Given the description of an element on the screen output the (x, y) to click on. 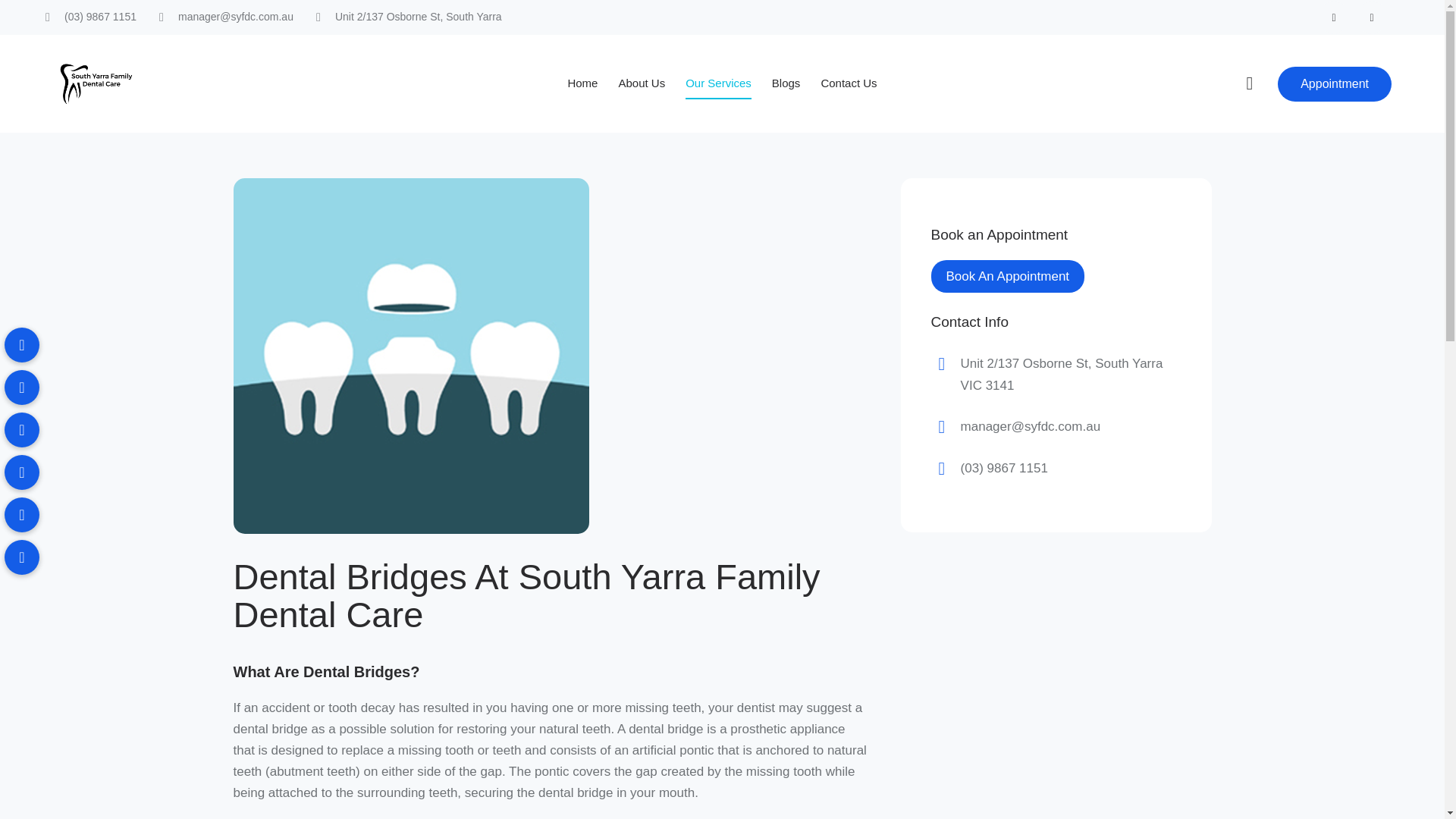
Blogs (785, 84)
About Us (641, 84)
Home (582, 84)
Our Services (718, 84)
Contact Us (848, 84)
Appointment (1334, 83)
